Given the description of an element on the screen output the (x, y) to click on. 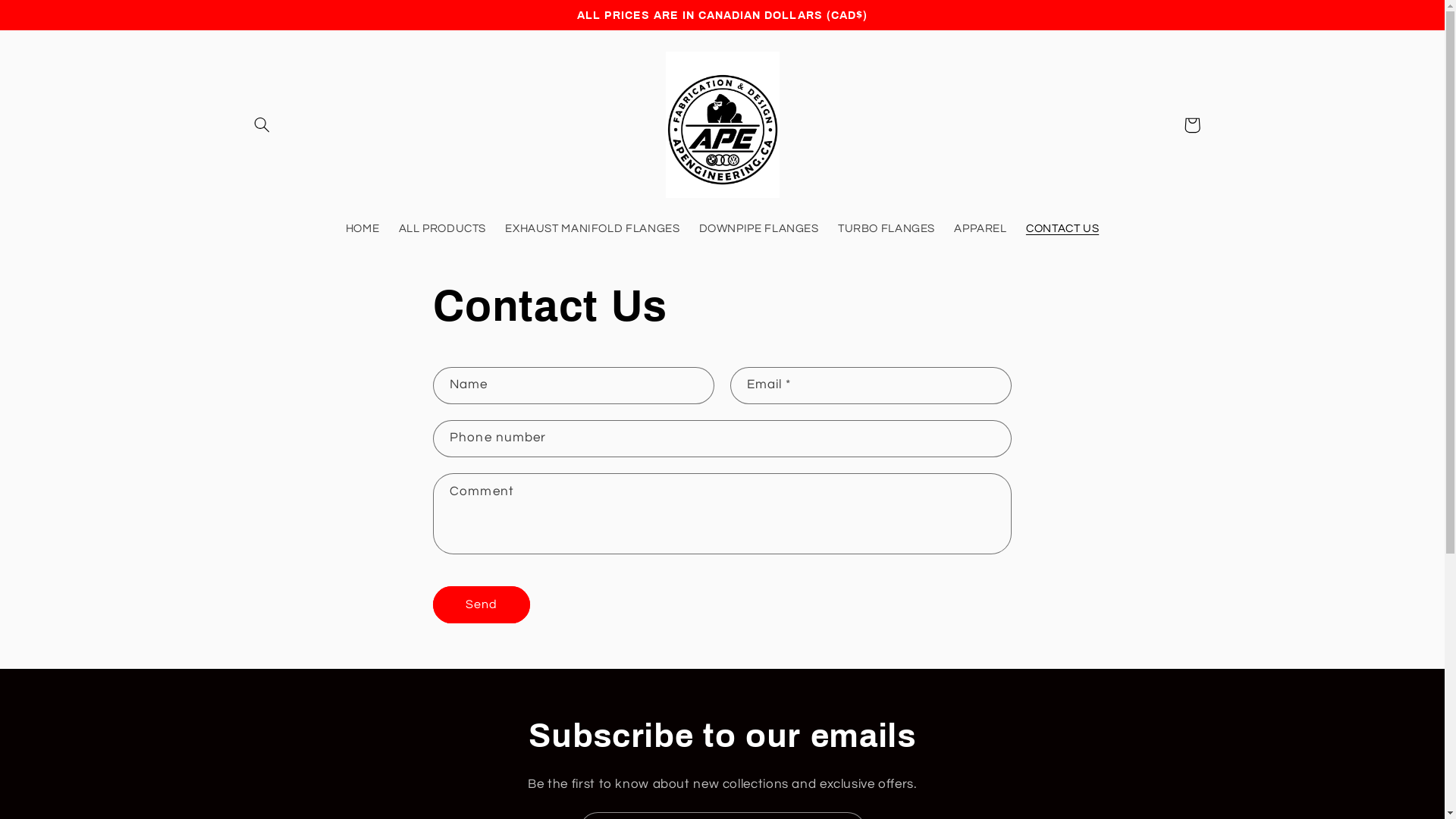
CONTACT US Element type: text (1062, 228)
DOWNPIPE FLANGES Element type: text (758, 228)
HOME Element type: text (362, 228)
ALL PRODUCTS Element type: text (442, 228)
APPAREL Element type: text (980, 228)
Cart Element type: text (1191, 124)
TURBO FLANGES Element type: text (886, 228)
Send Element type: text (481, 604)
EXHAUST MANIFOLD FLANGES Element type: text (592, 228)
